Given the description of an element on the screen output the (x, y) to click on. 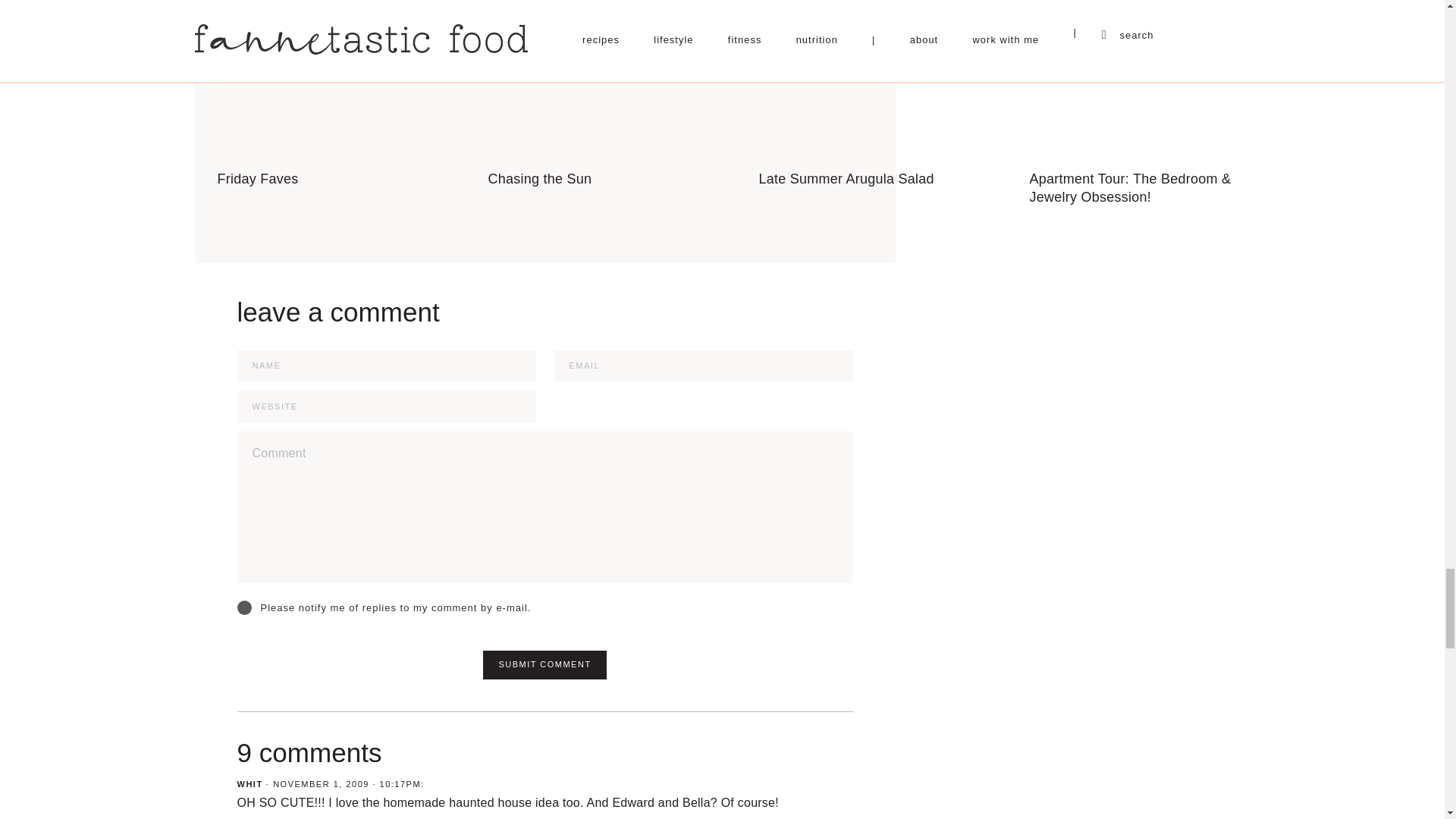
Friday Faves (338, 94)
replies (242, 607)
Submit comment (544, 664)
